Given the description of an element on the screen output the (x, y) to click on. 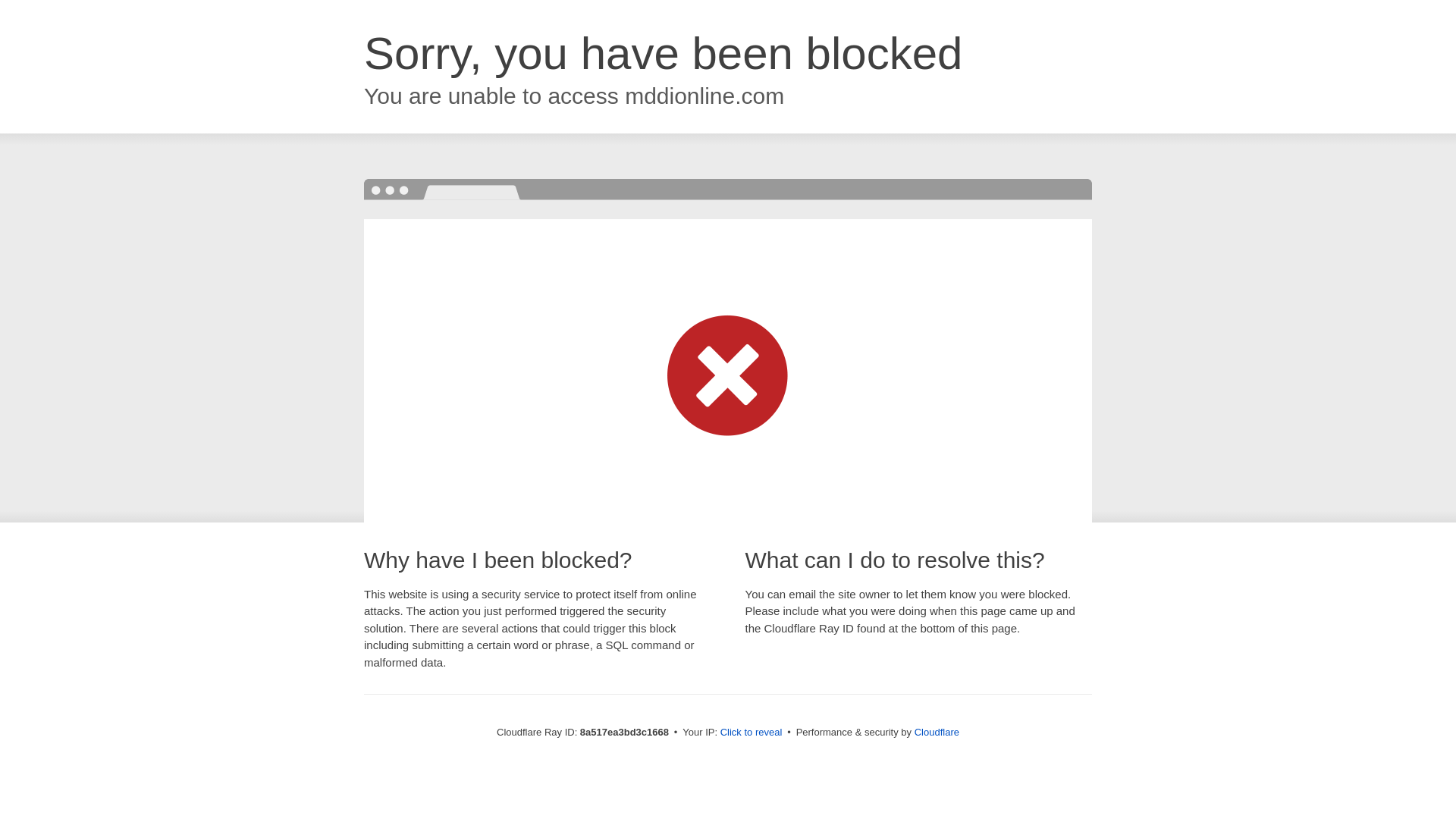
Cloudflare (936, 731)
Click to reveal (751, 732)
